Given the description of an element on the screen output the (x, y) to click on. 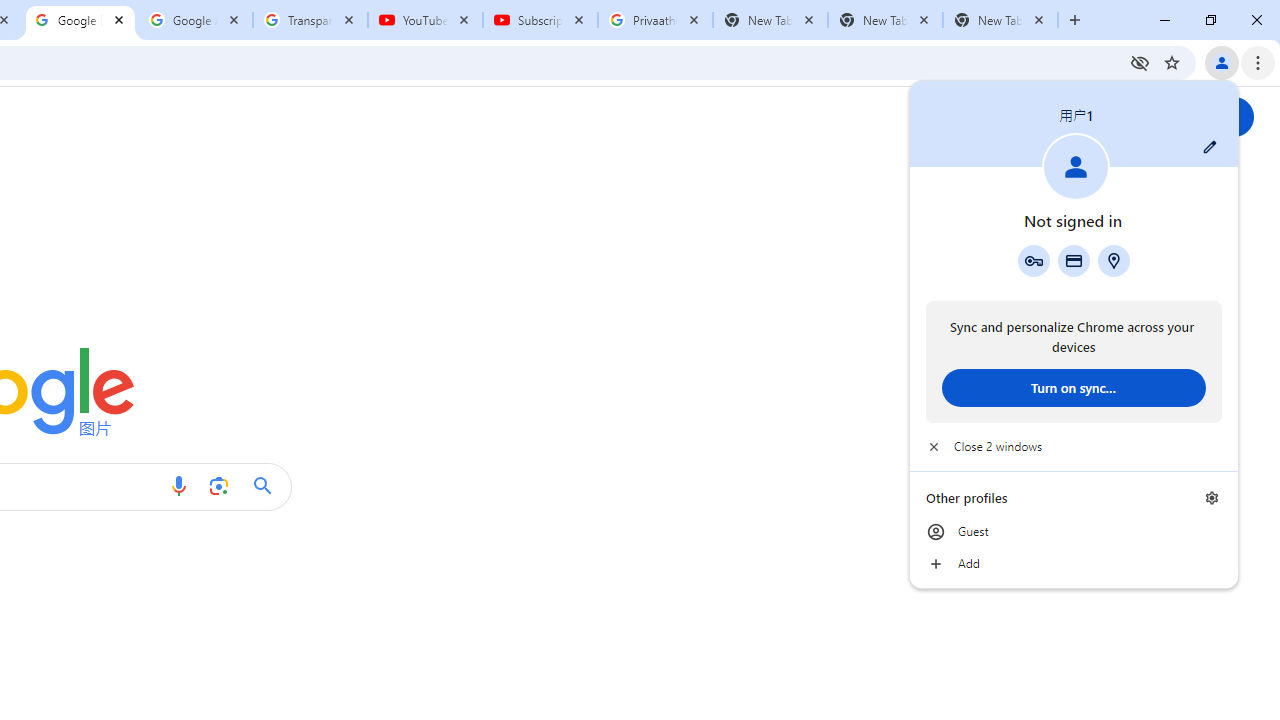
Payment methods (1074, 260)
YouTube (424, 20)
Add (1073, 563)
New Tab (1000, 20)
Addresses and more (1114, 260)
Customize profile (1210, 147)
Manage profiles (1211, 498)
Google Account (195, 20)
